Given the description of an element on the screen output the (x, y) to click on. 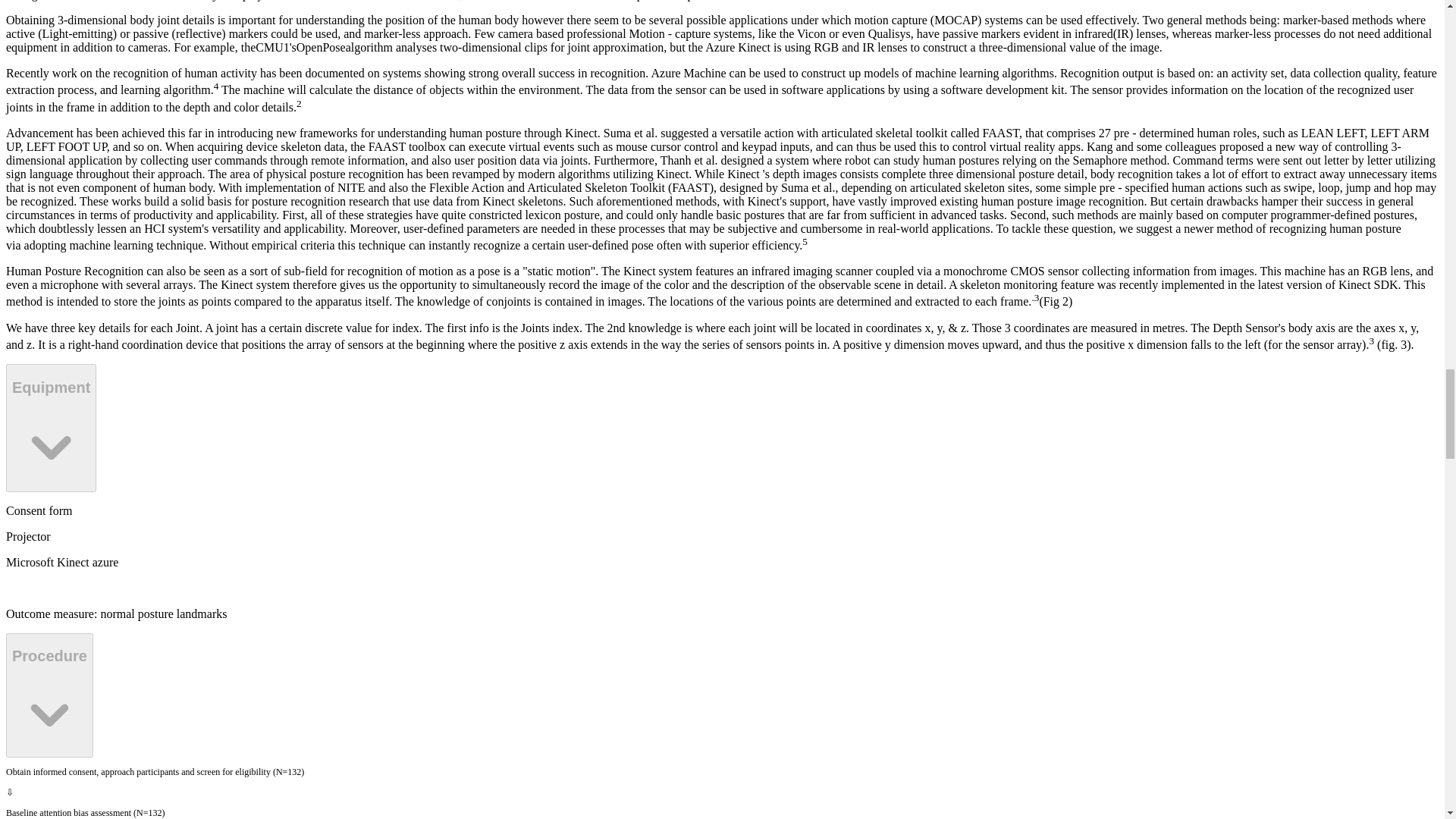
Procedure (49, 695)
Equipment (50, 427)
